Given the description of an element on the screen output the (x, y) to click on. 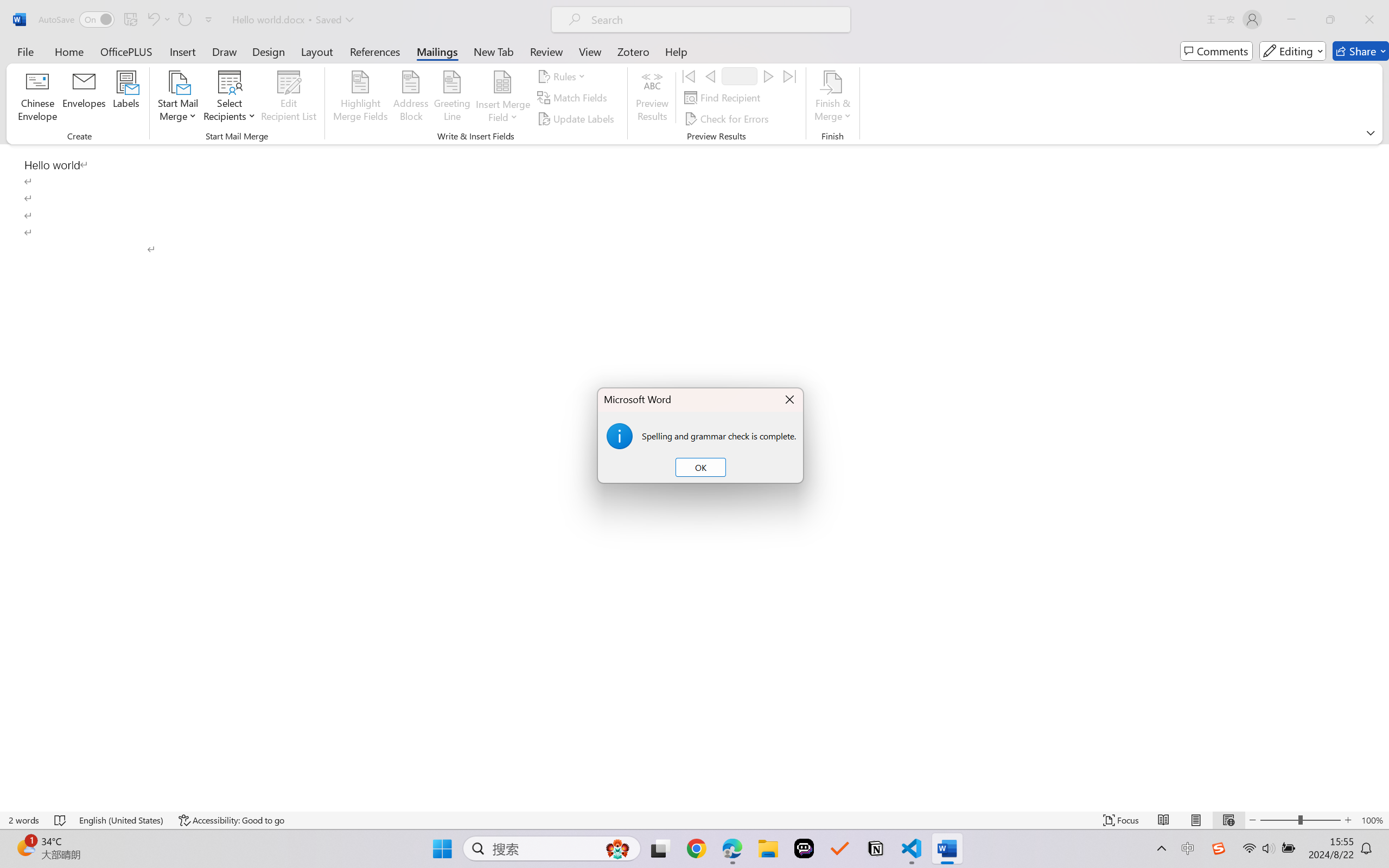
Select Recipients (229, 97)
Review (546, 51)
Language English (United States) (121, 819)
Word Count 2 words (23, 819)
References (375, 51)
Microsoft search (715, 19)
Focus  (1121, 819)
OfficePLUS (126, 51)
Greeting Line... (451, 97)
Previous (709, 75)
Comments (1216, 50)
Next (768, 75)
Insert (182, 51)
